Given the description of an element on the screen output the (x, y) to click on. 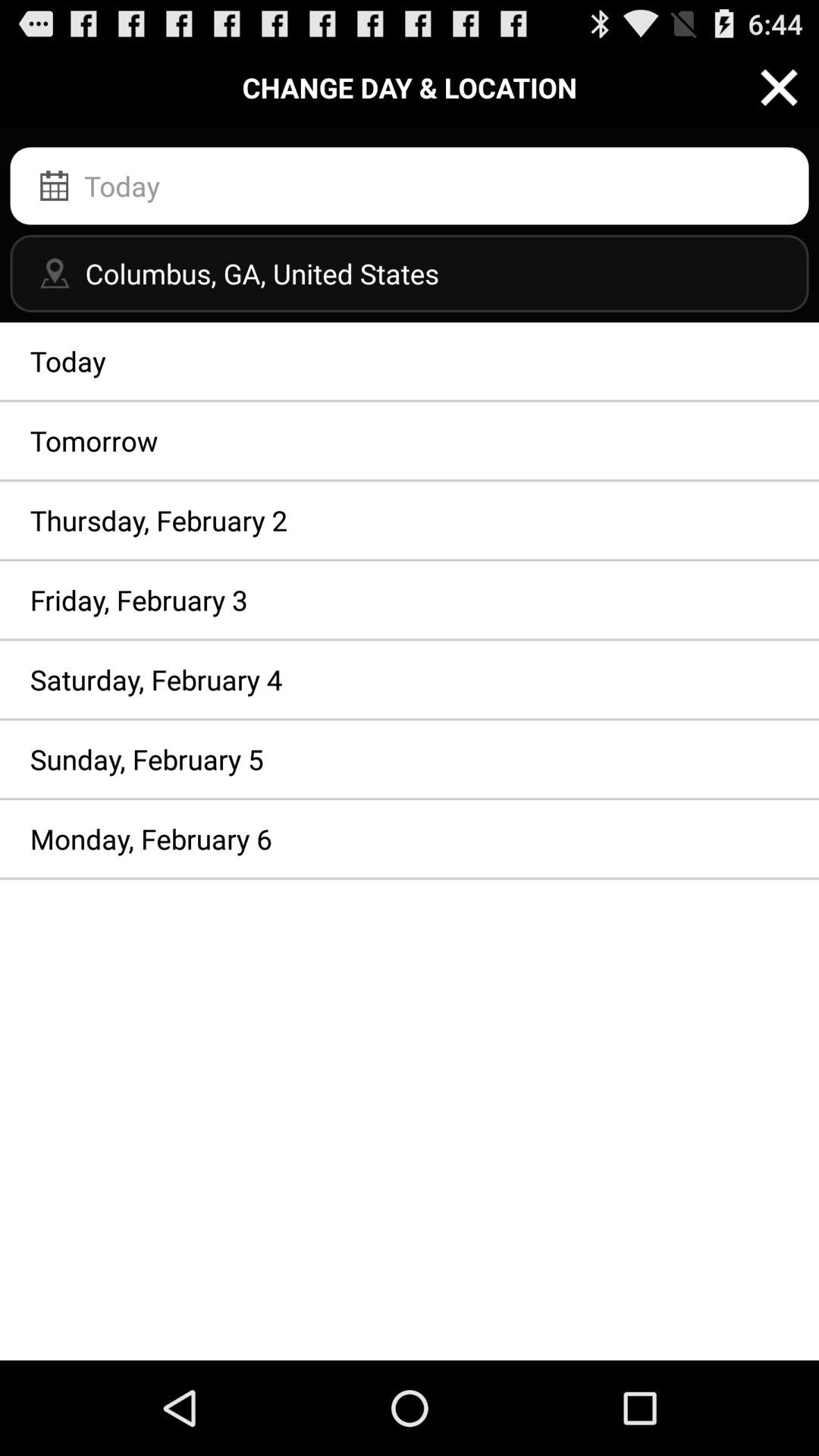
select icon at the top right corner (779, 87)
